Given the description of an element on the screen output the (x, y) to click on. 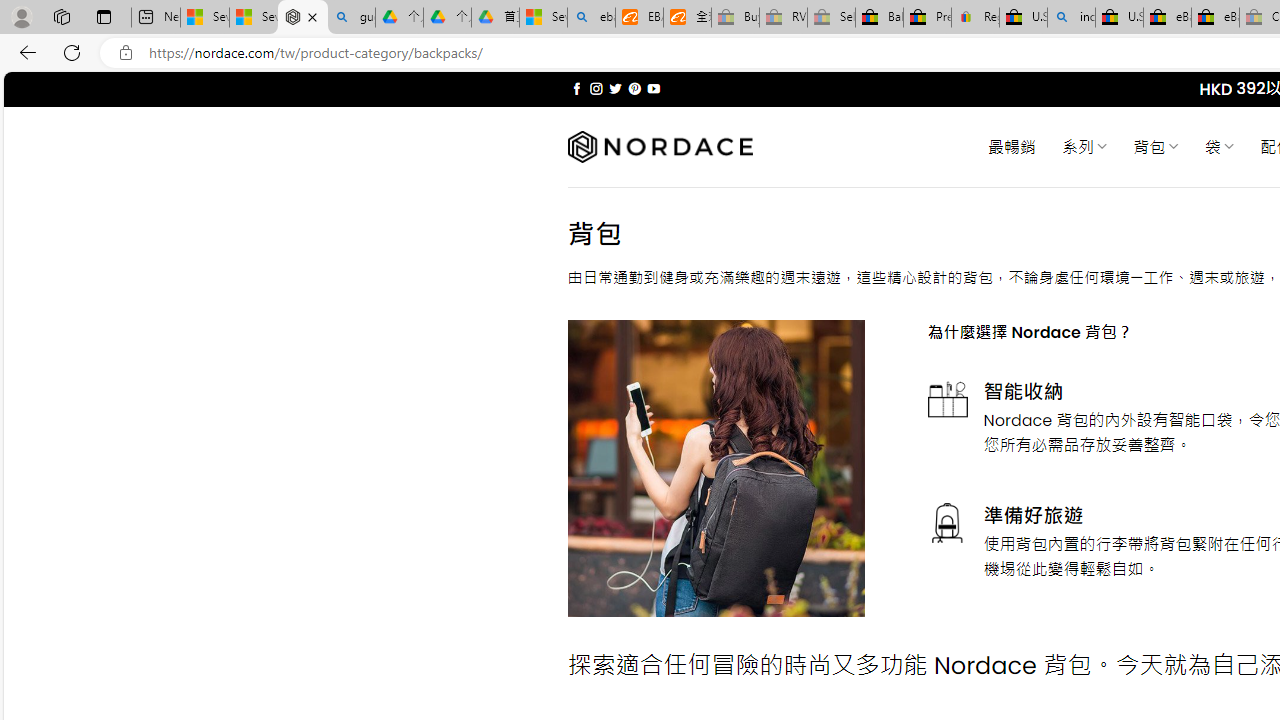
Press Room - eBay Inc. (927, 17)
